Given the description of an element on the screen output the (x, y) to click on. 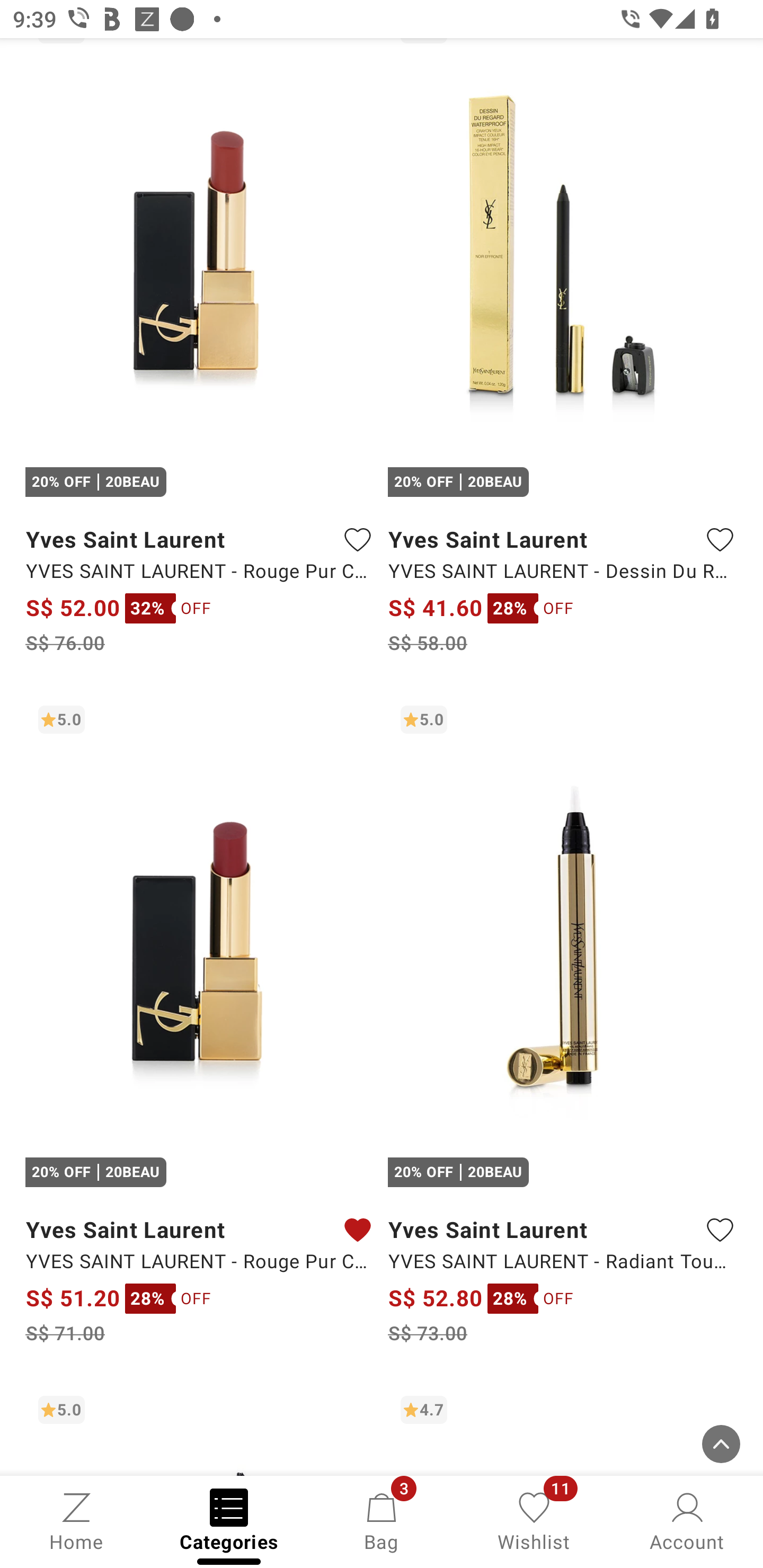
Home (76, 1519)
Bag, 3 new notifications Bag (381, 1519)
Wishlist, 11 new notifications Wishlist (533, 1519)
Account (686, 1519)
